Given the description of an element on the screen output the (x, y) to click on. 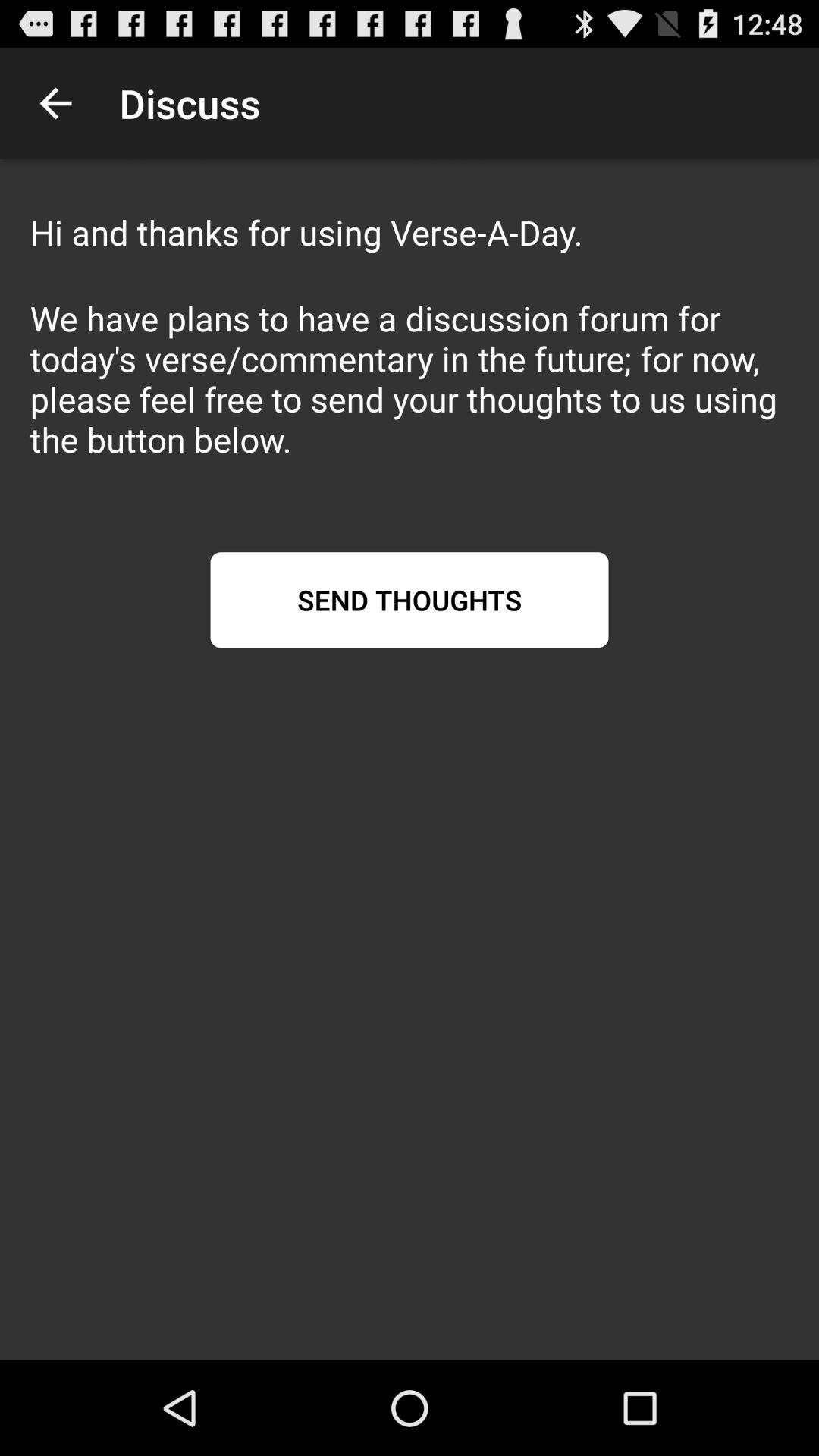
choose app to the left of discuss item (55, 103)
